Given the description of an element on the screen output the (x, y) to click on. 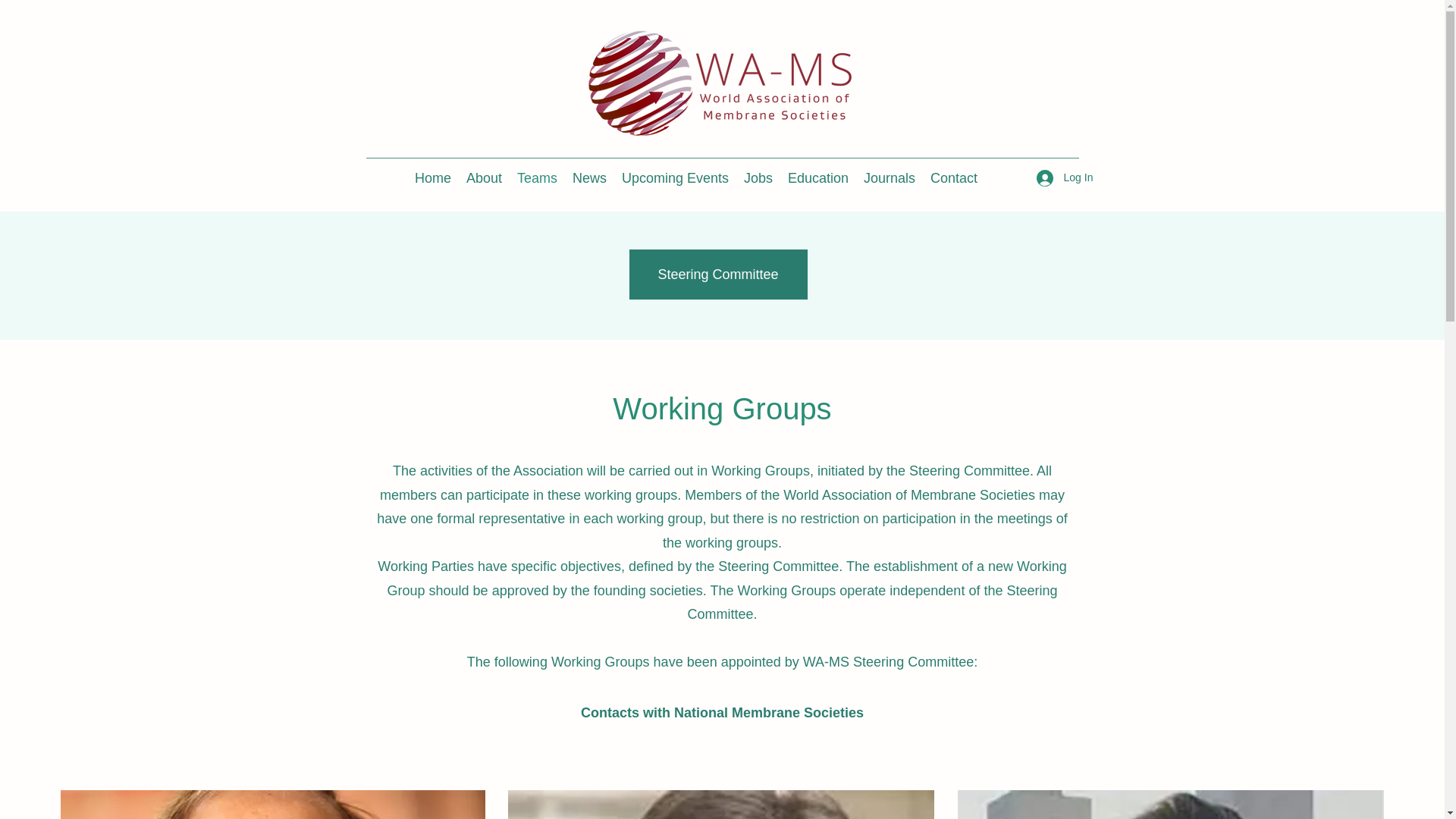
Home (432, 177)
Steering Committee (718, 274)
About (483, 177)
Contact (954, 177)
Upcoming Events (675, 177)
Log In (1059, 177)
News (589, 177)
Teams (536, 177)
Education (818, 177)
Journals (889, 177)
